Given the description of an element on the screen output the (x, y) to click on. 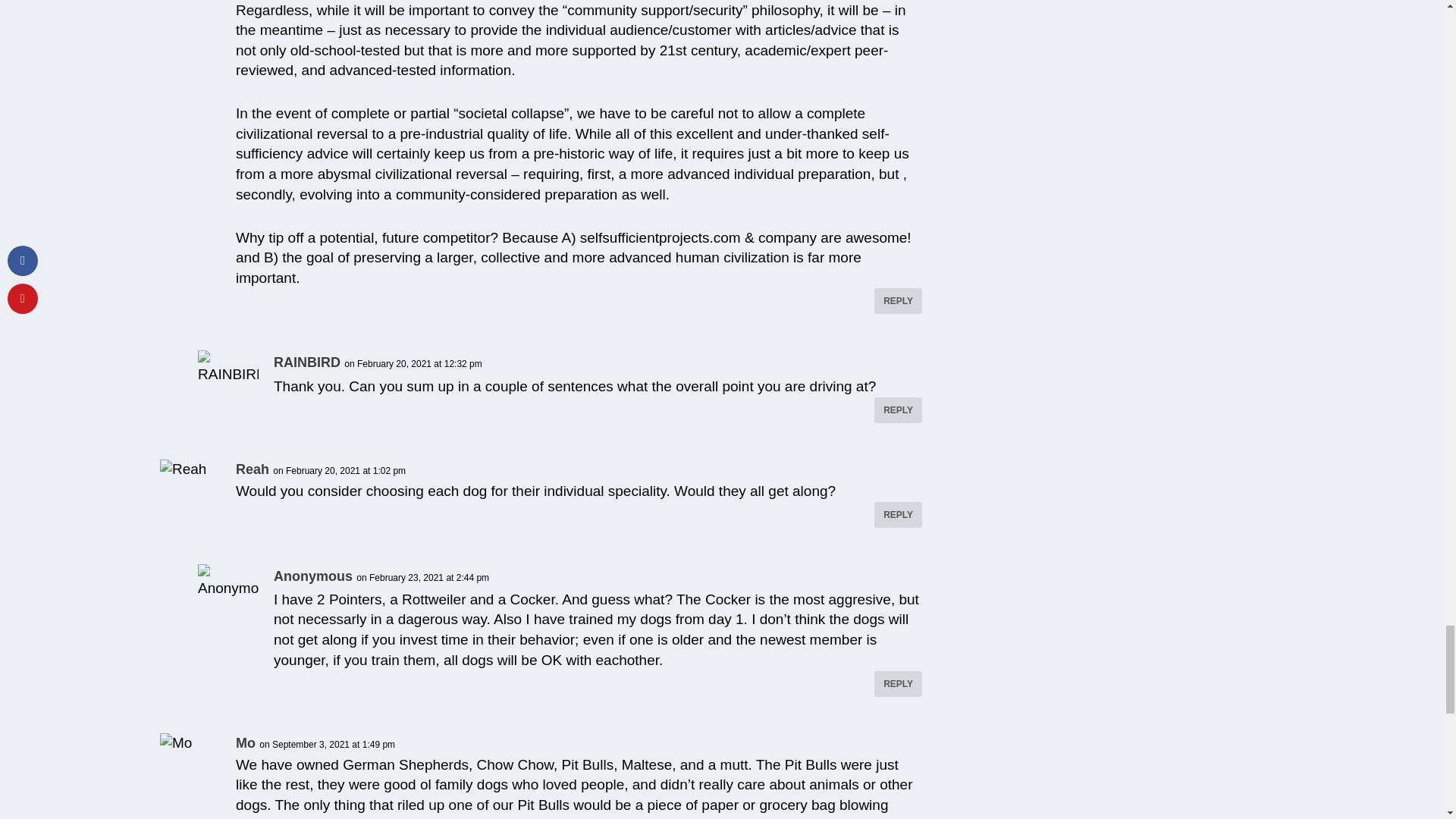
REPLY (898, 410)
REPLY (898, 514)
REPLY (898, 300)
REPLY (898, 683)
